Given the description of an element on the screen output the (x, y) to click on. 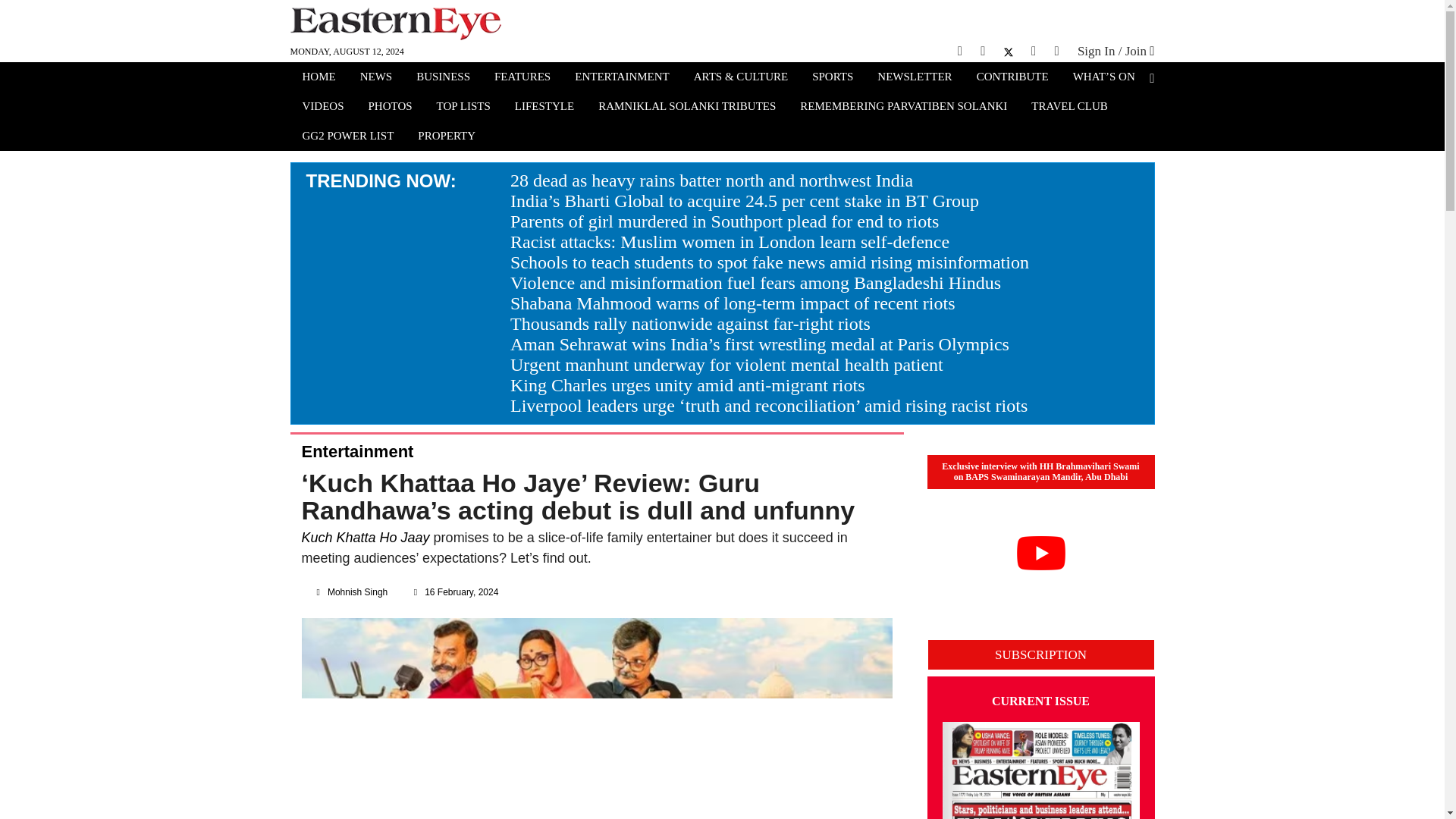
VIDEOS (322, 108)
HOME (317, 78)
RAMNIKLAL SOLANKI TRIBUTES (686, 108)
TRAVEL CLUB (1069, 108)
Shabana Mahmood warns of long-term impact of recent riots (733, 302)
PROPERTY (446, 137)
BUSINESS (443, 78)
Parents of girl murdered in Southport plead for end to riots (725, 220)
GG2 POWER LIST (346, 137)
